Given the description of an element on the screen output the (x, y) to click on. 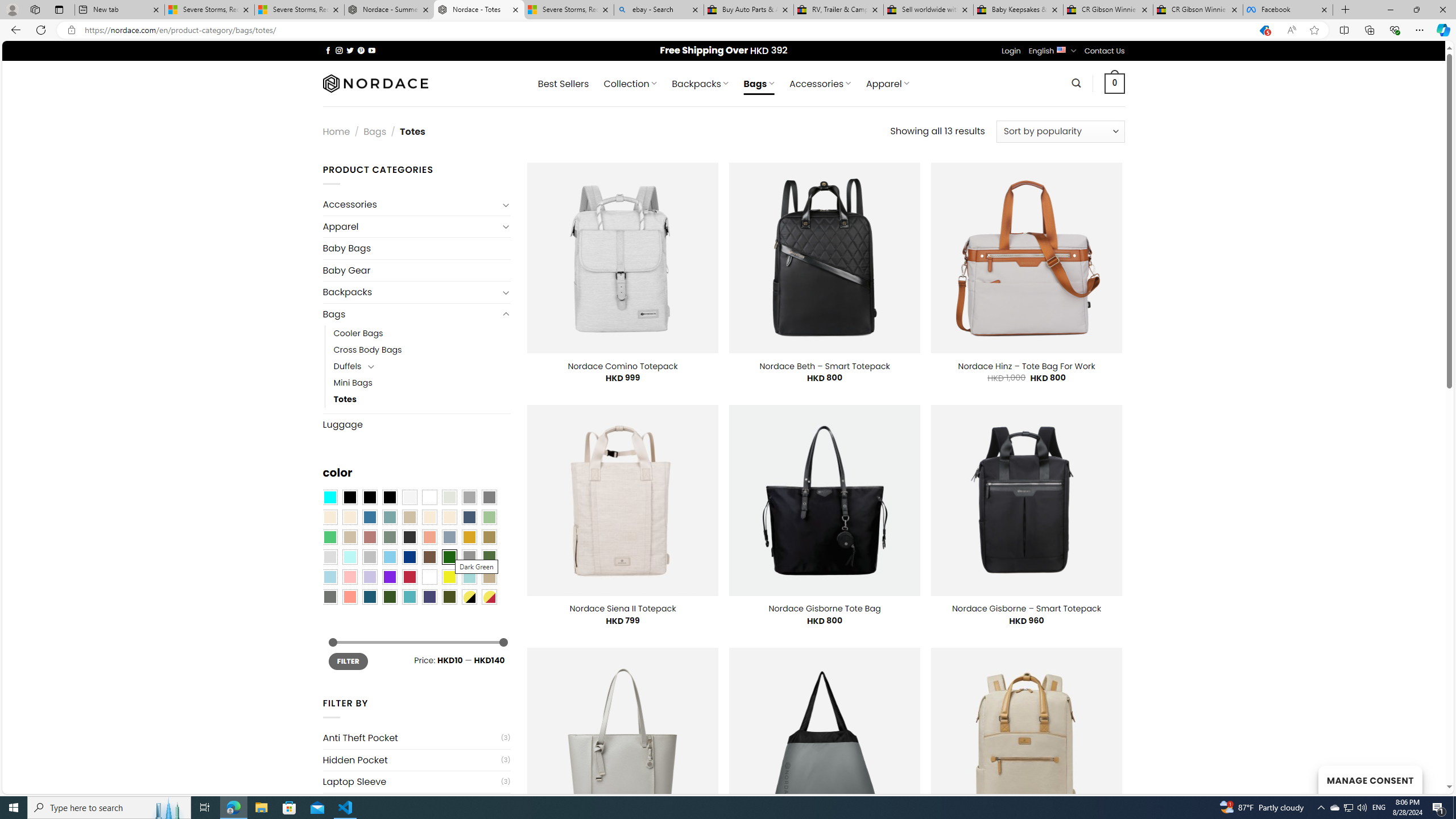
Silver (369, 557)
Luggage (416, 423)
Forest (389, 596)
Kelp (488, 536)
Anti Theft Pocket(3) (416, 738)
Cooler Bags (422, 333)
Caramel (429, 517)
Buy Auto Parts & Accessories | eBay (747, 9)
Follow on YouTube (371, 49)
Bags (410, 314)
